Given the description of an element on the screen output the (x, y) to click on. 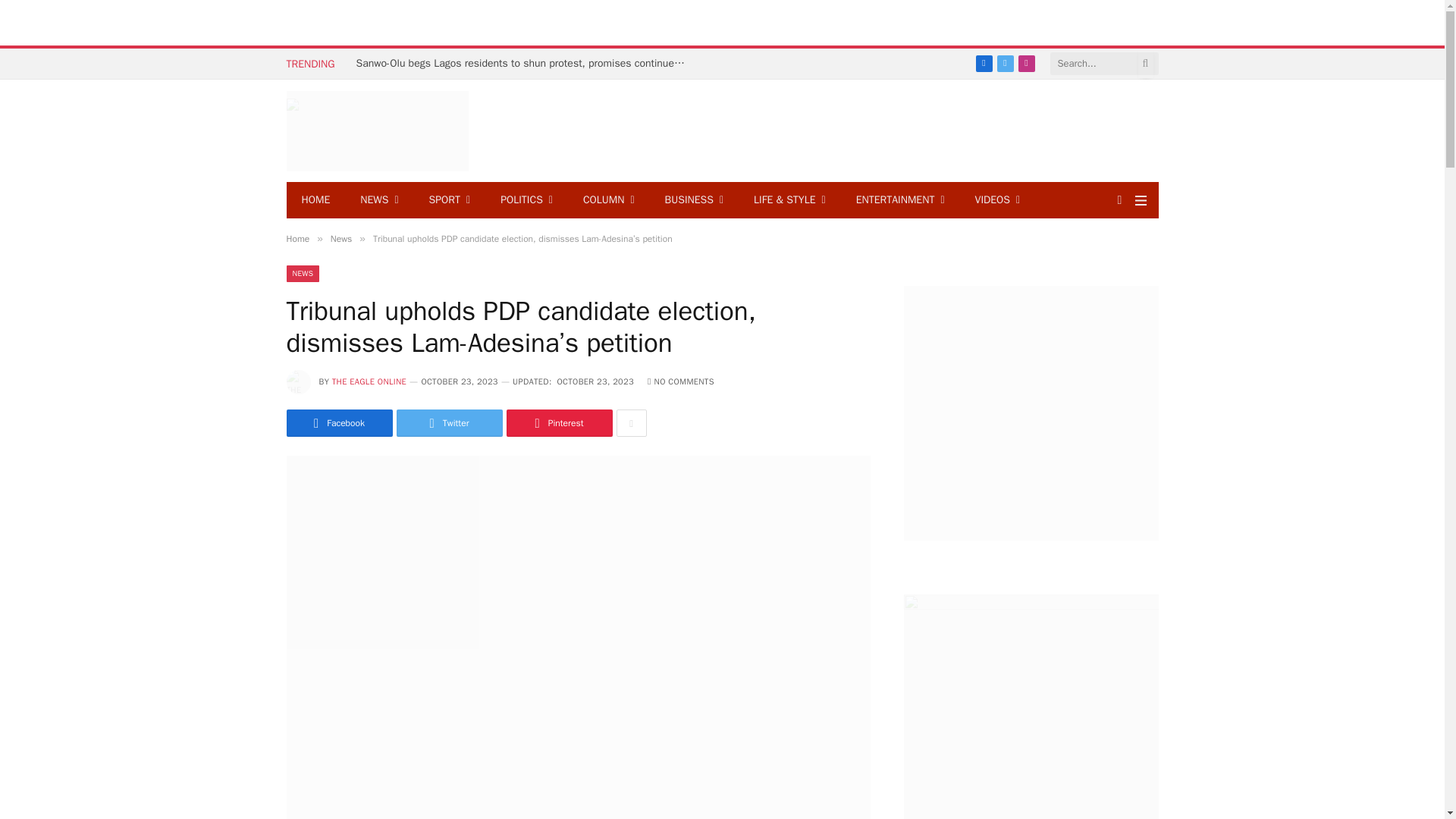
Instagram (1026, 63)
Twitter (1005, 63)
The Eagle Online (377, 130)
NEWS (379, 199)
Facebook (983, 63)
HOME (316, 199)
